Given the description of an element on the screen output the (x, y) to click on. 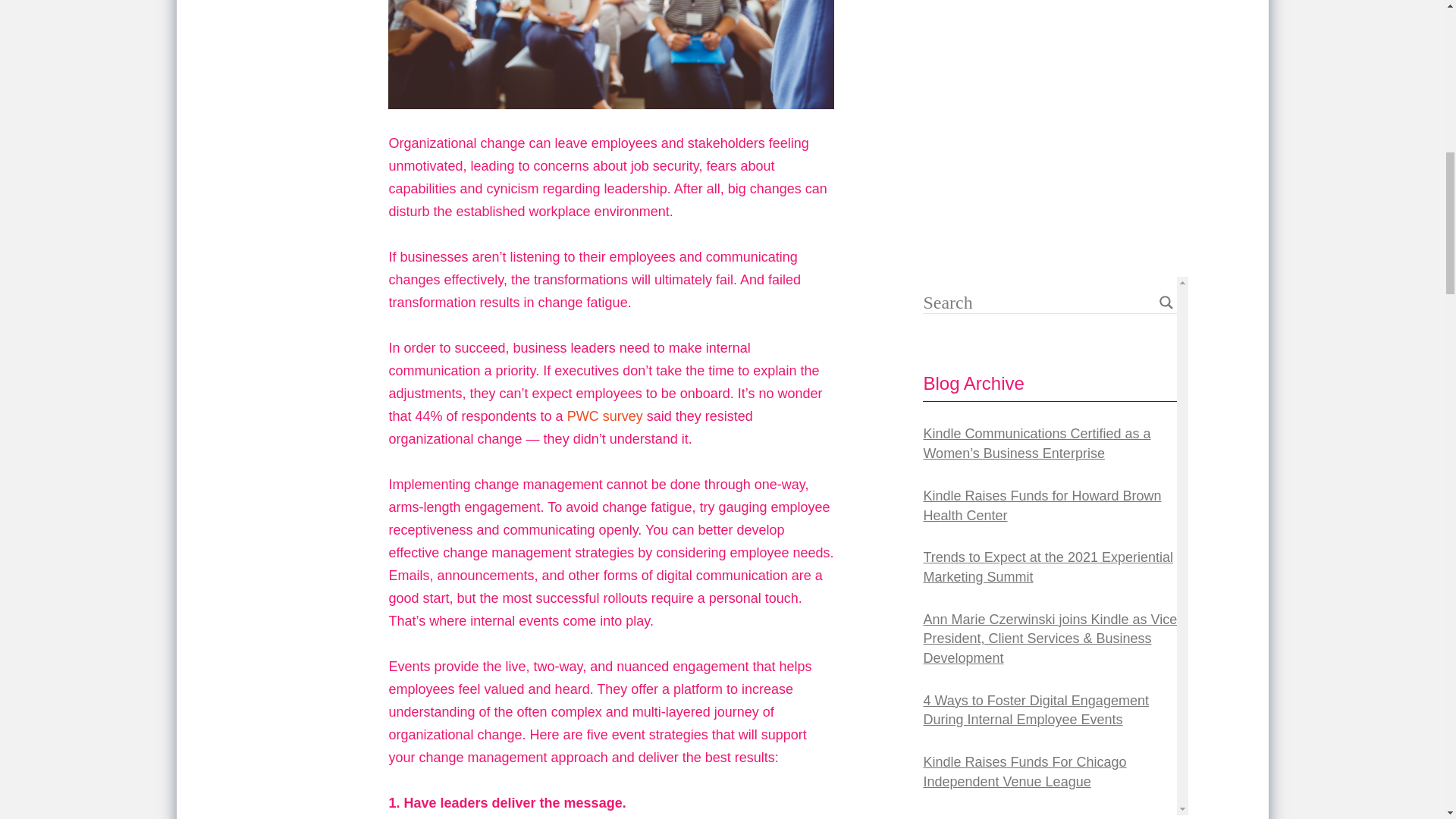
PWC survey (605, 416)
